Given the description of an element on the screen output the (x, y) to click on. 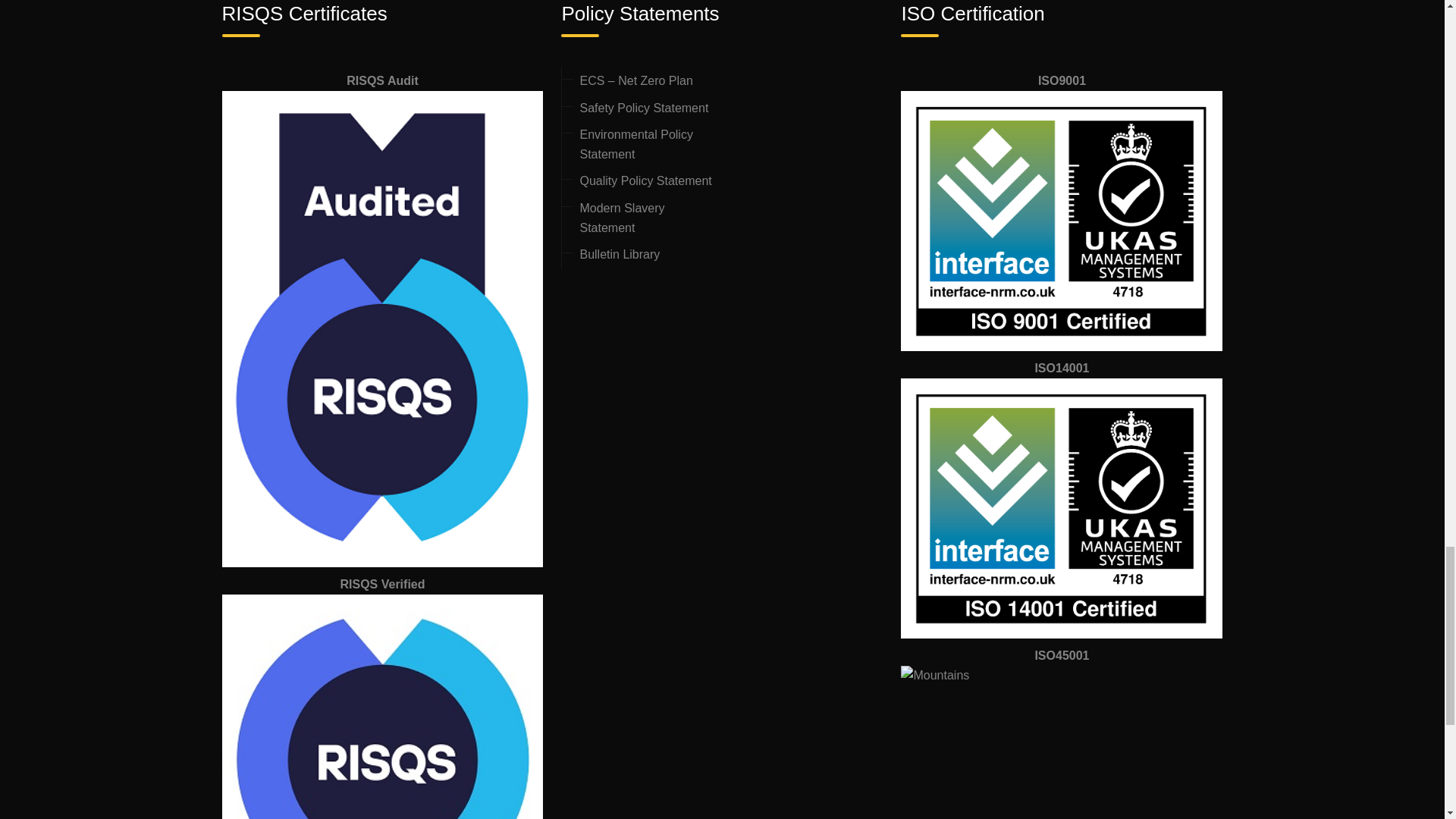
Safety Policy Statement (643, 107)
Bulletin Library (619, 254)
Environmental Policy Statement (636, 143)
Quality Policy Statement (645, 180)
Modern Slavery Statement (621, 217)
